Given the description of an element on the screen output the (x, y) to click on. 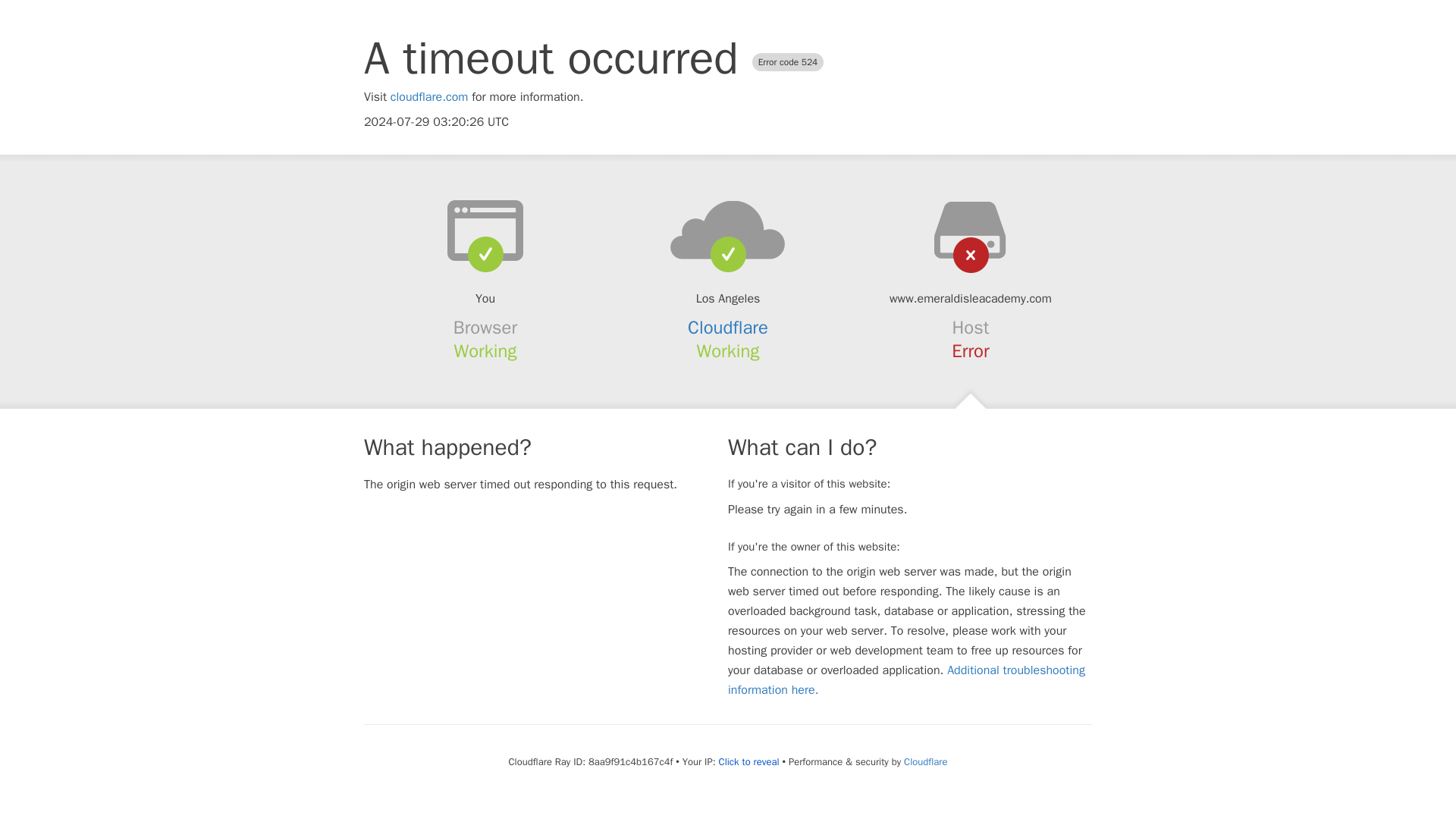
Click to reveal (748, 762)
Cloudflare (925, 761)
Cloudflare (727, 327)
Additional troubleshooting information here. (906, 679)
cloudflare.com (429, 96)
